Given the description of an element on the screen output the (x, y) to click on. 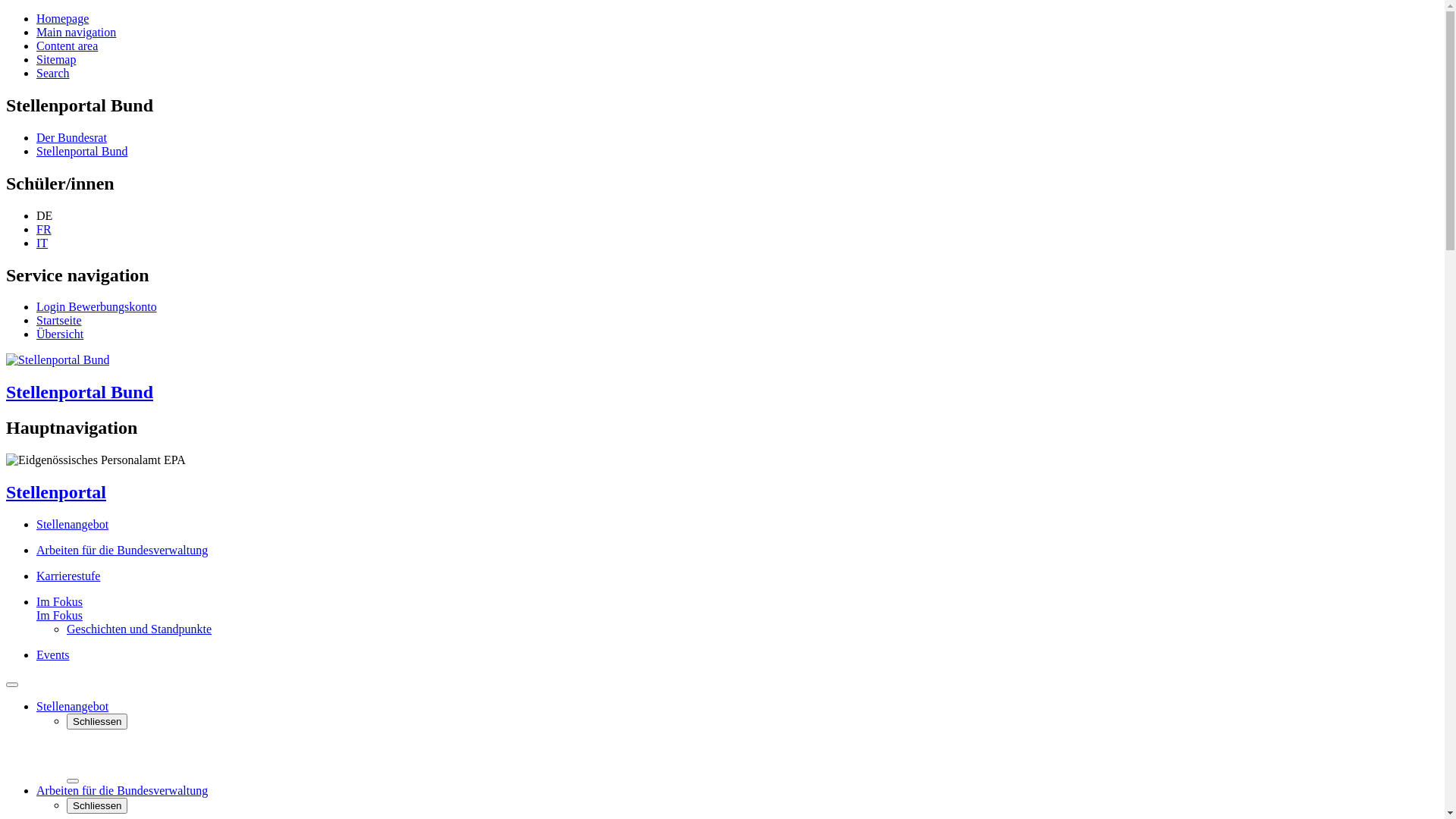
Im Fokus Element type: text (59, 601)
Geschichten und Standpunkte Element type: text (138, 628)
Stellenangebot Element type: text (72, 705)
DE Element type: text (44, 215)
Events Element type: text (52, 654)
Stellenportal Element type: text (56, 492)
Karrierestufe Element type: text (68, 575)
Stellenportal Bund Element type: text (81, 150)
Sitemap Element type: text (55, 59)
Startseite Element type: text (58, 319)
Login Bewerbungskonto Element type: text (96, 306)
IT Element type: text (41, 242)
Schliessen Element type: text (96, 805)
Main navigation Element type: text (76, 31)
Content area Element type: text (66, 45)
Stellenangebot Element type: text (72, 523)
Search Element type: text (52, 72)
Schliessen Element type: text (96, 721)
FR Element type: text (43, 228)
Stellenportal Bund Element type: text (722, 377)
Homepage Element type: text (62, 18)
Im Fokus Element type: text (59, 614)
Der Bundesrat Element type: text (71, 137)
